Given the description of an element on the screen output the (x, y) to click on. 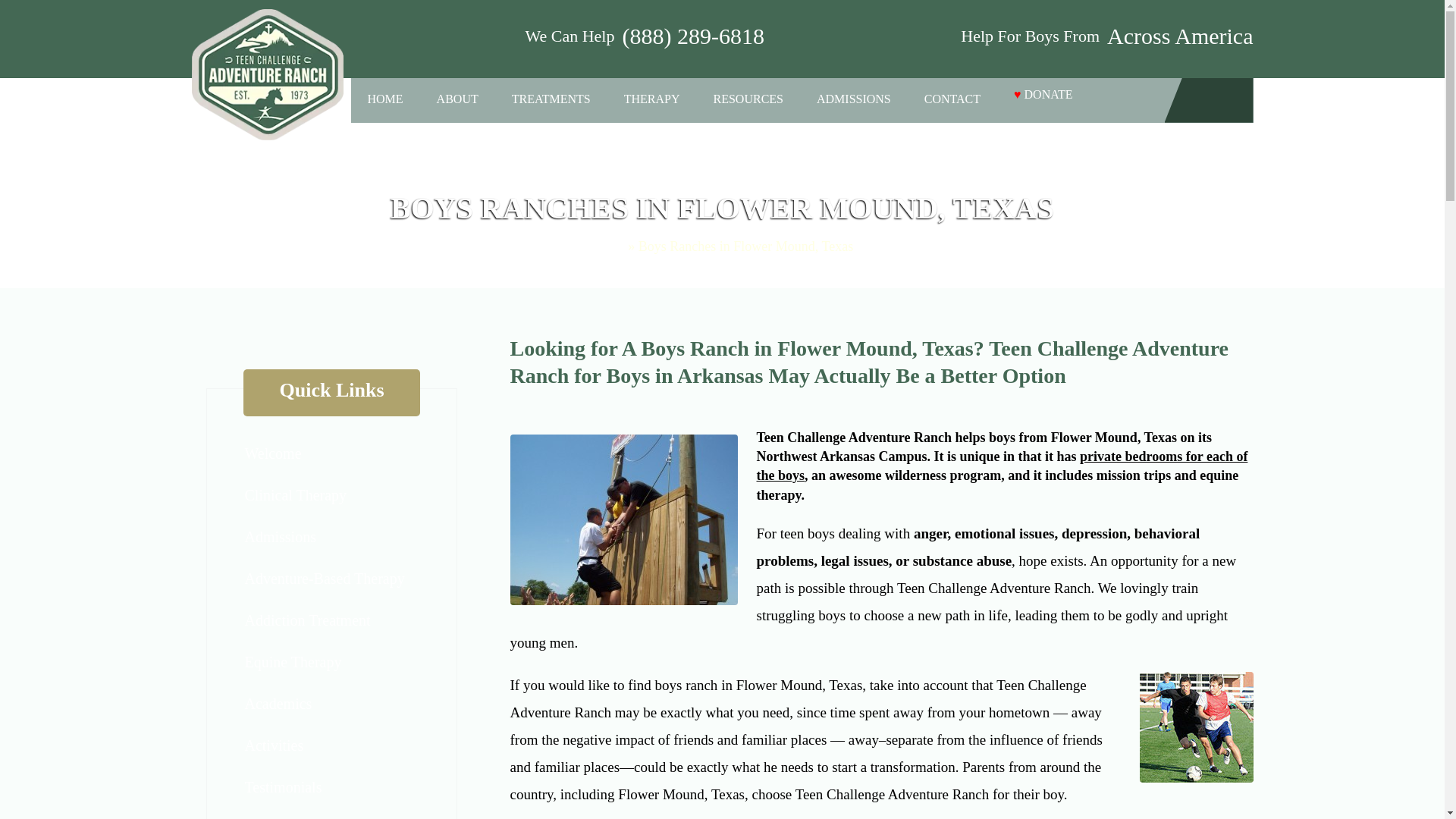
THERAPY (651, 97)
ABOUT (457, 97)
TREATMENTS (551, 97)
HOME (384, 97)
